Given the description of an element on the screen output the (x, y) to click on. 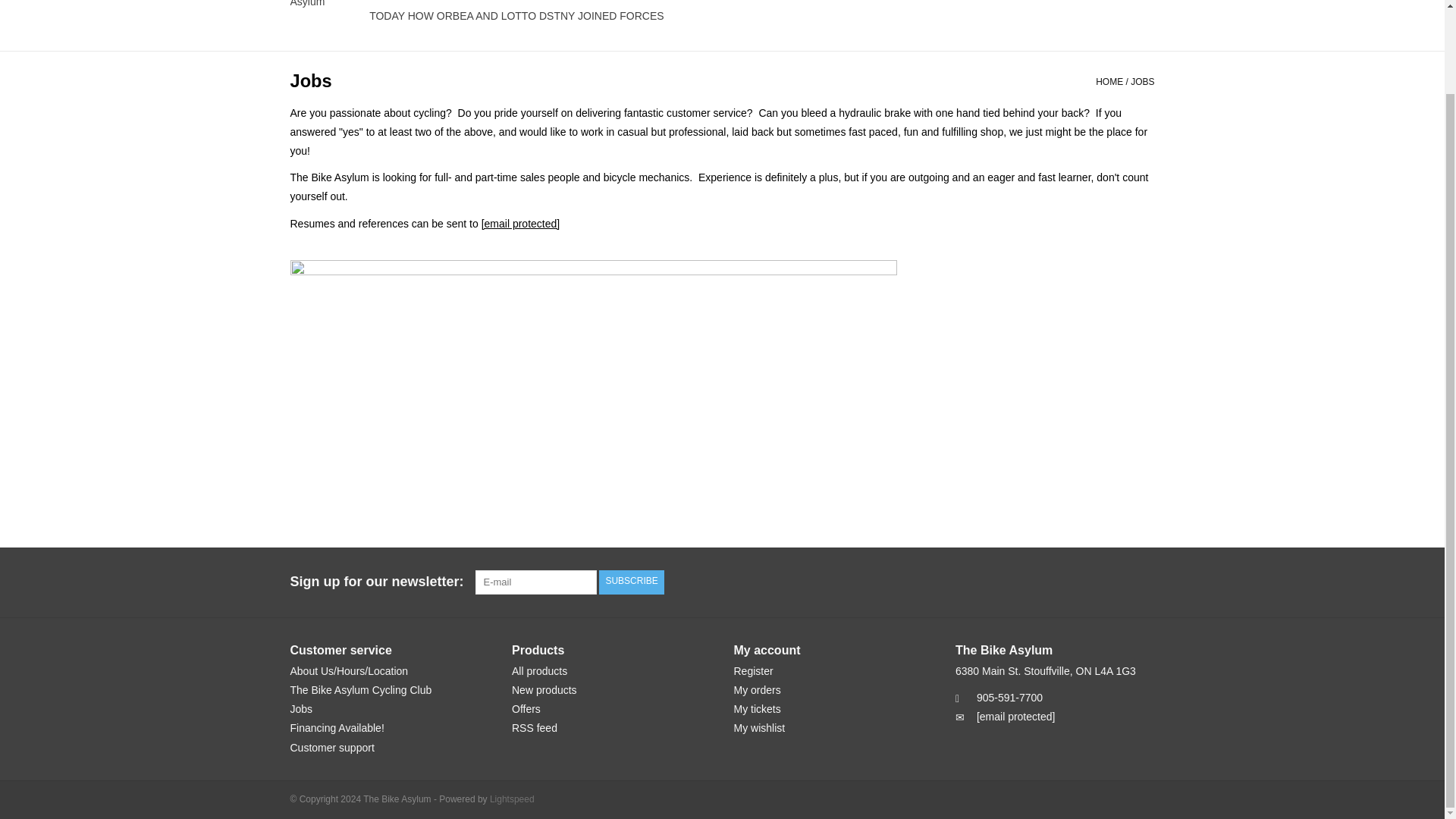
The Bike Asylum (327, 5)
PRODUCTS (508, 2)
BICYCLES (439, 2)
Bicycles (439, 2)
HOME (385, 2)
